Given the description of an element on the screen output the (x, y) to click on. 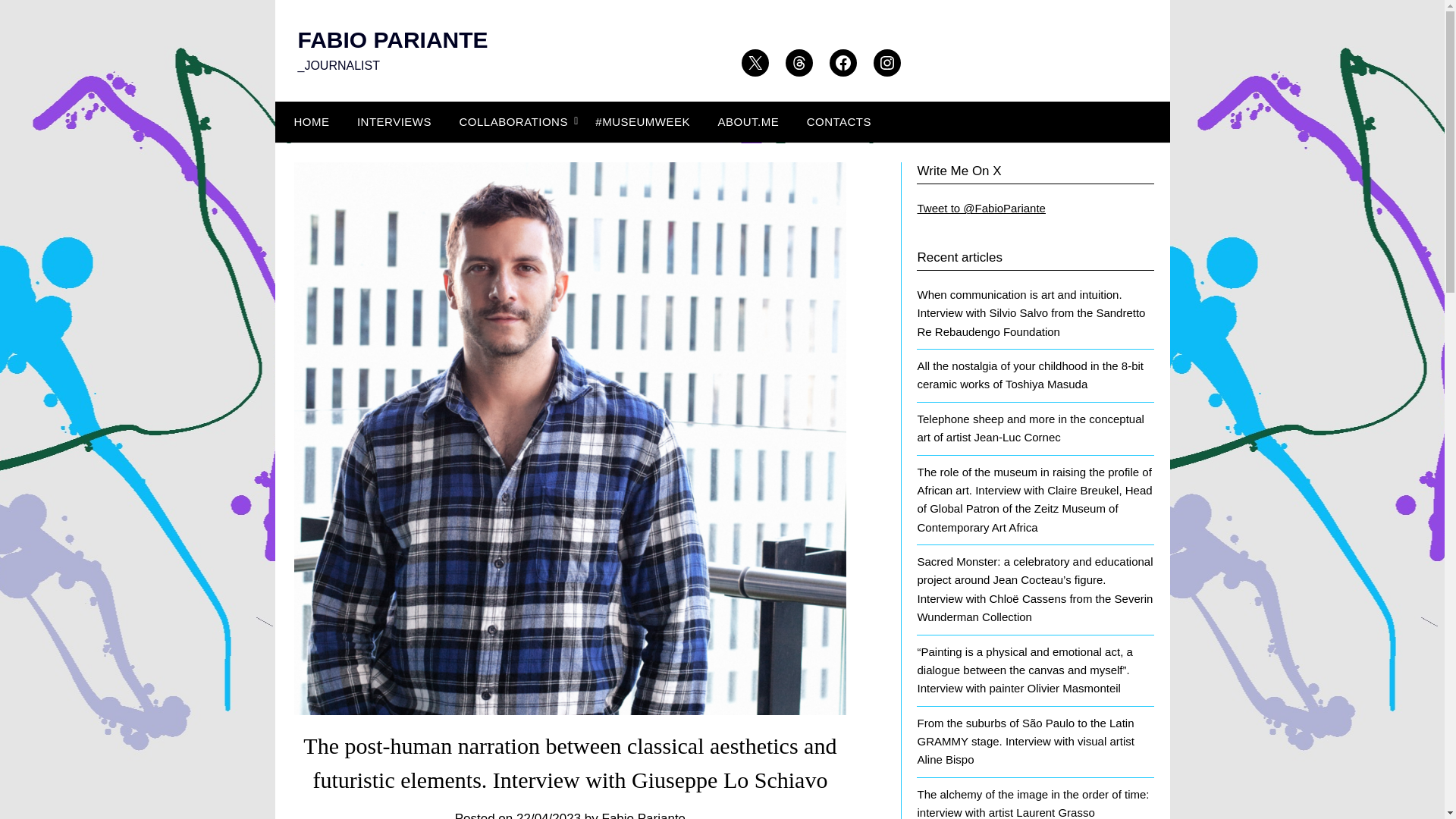
Facebook (843, 62)
Threads (799, 62)
X (754, 62)
Fabio Pariante (643, 815)
ABOUT.ME (747, 121)
INTERVIEWS (394, 121)
COLLABORATIONS (512, 121)
FABIO PARIANTE (392, 39)
CONTACTS (838, 121)
Instagram (887, 62)
HOME (307, 121)
